Given the description of an element on the screen output the (x, y) to click on. 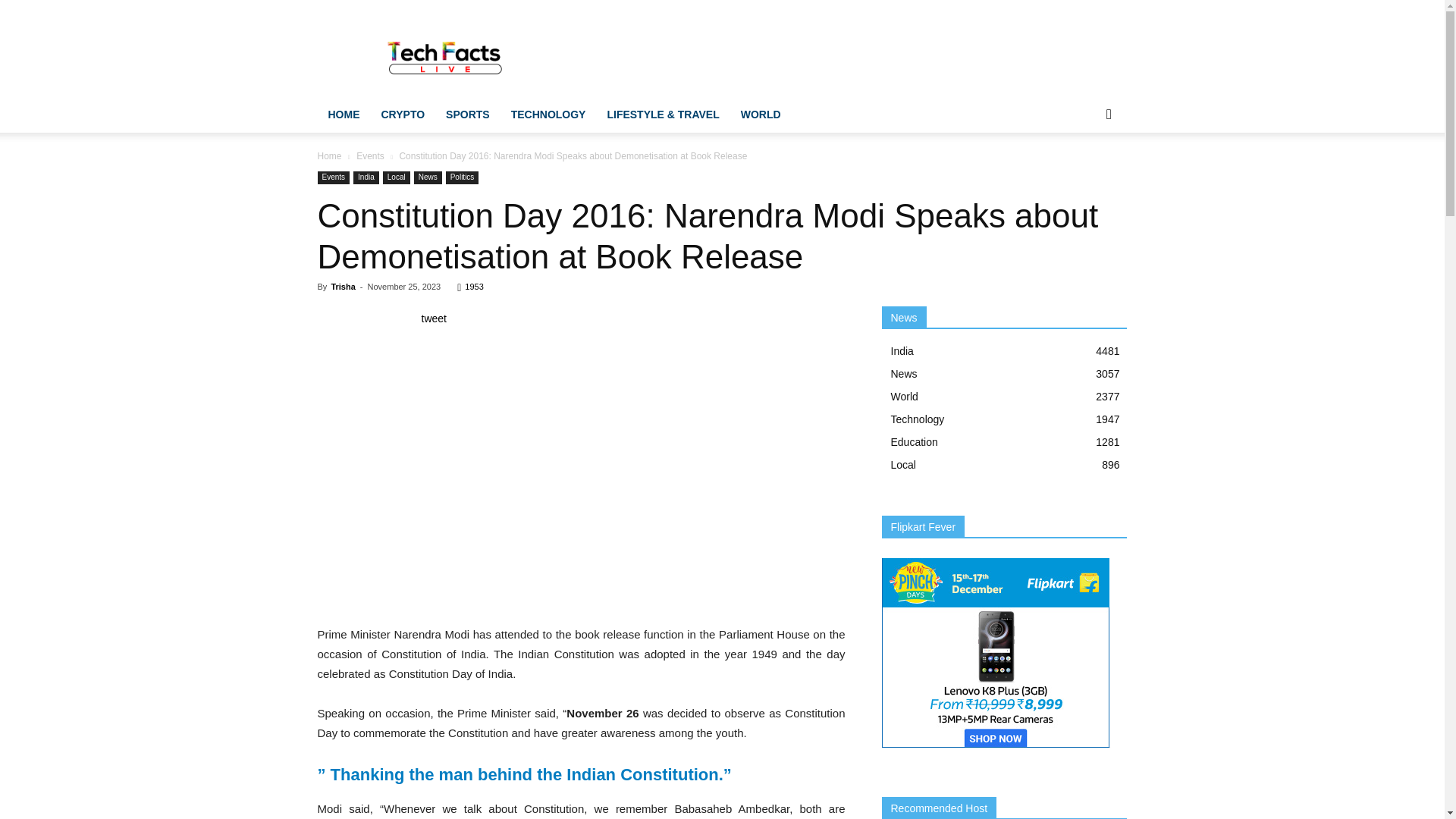
TECHNOLOGY (548, 114)
WORLD (761, 114)
SPORTS (467, 114)
CRYPTO (402, 114)
TF Live (446, 55)
View all posts in Events (370, 155)
HOME (343, 114)
